Given the description of an element on the screen output the (x, y) to click on. 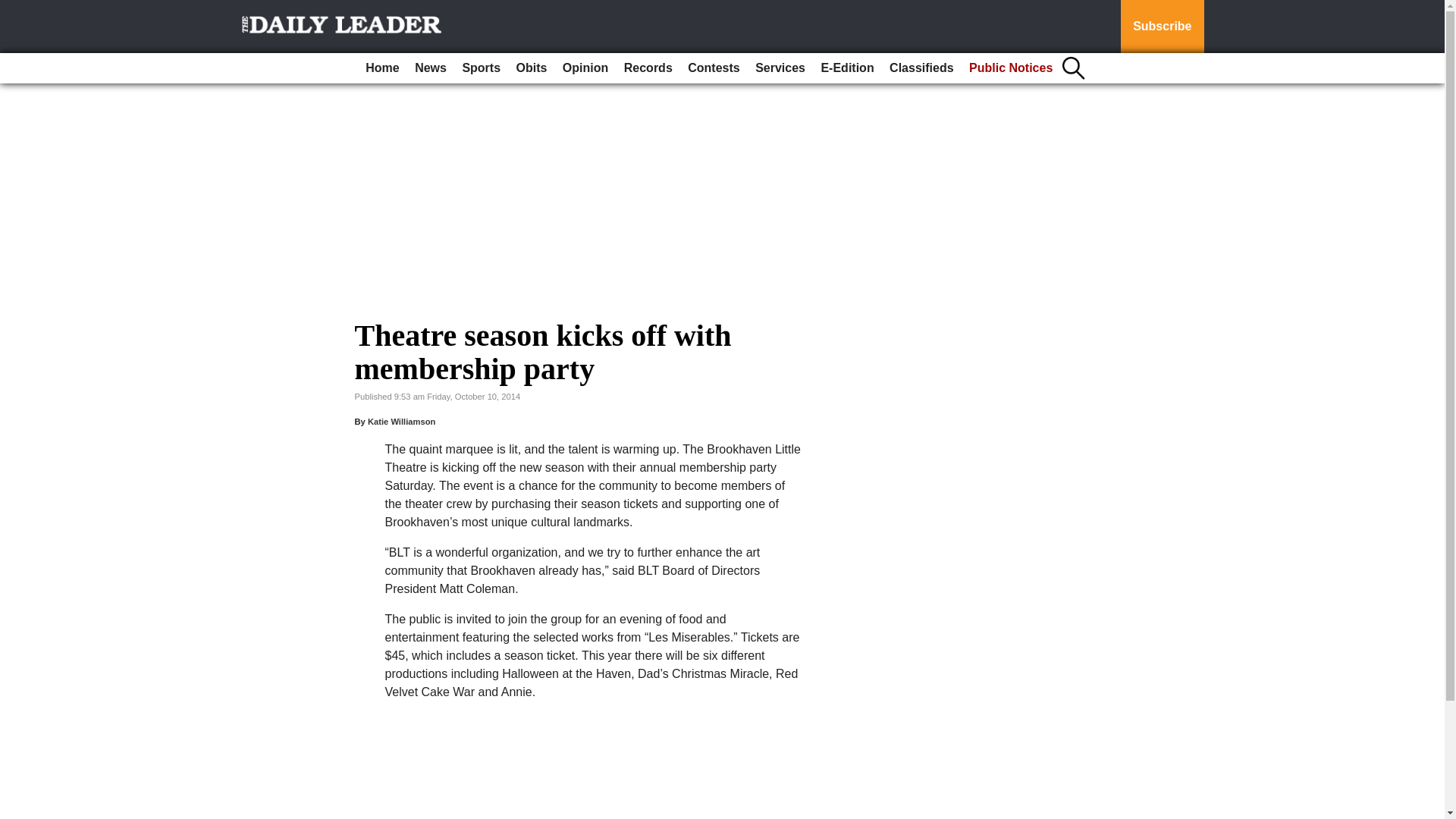
E-Edition (846, 68)
Go (13, 9)
Opinion (585, 68)
Katie Williamson (401, 420)
Home (381, 68)
Contests (713, 68)
Records (647, 68)
News (430, 68)
Subscribe (1162, 26)
Services (779, 68)
